Given the description of an element on the screen output the (x, y) to click on. 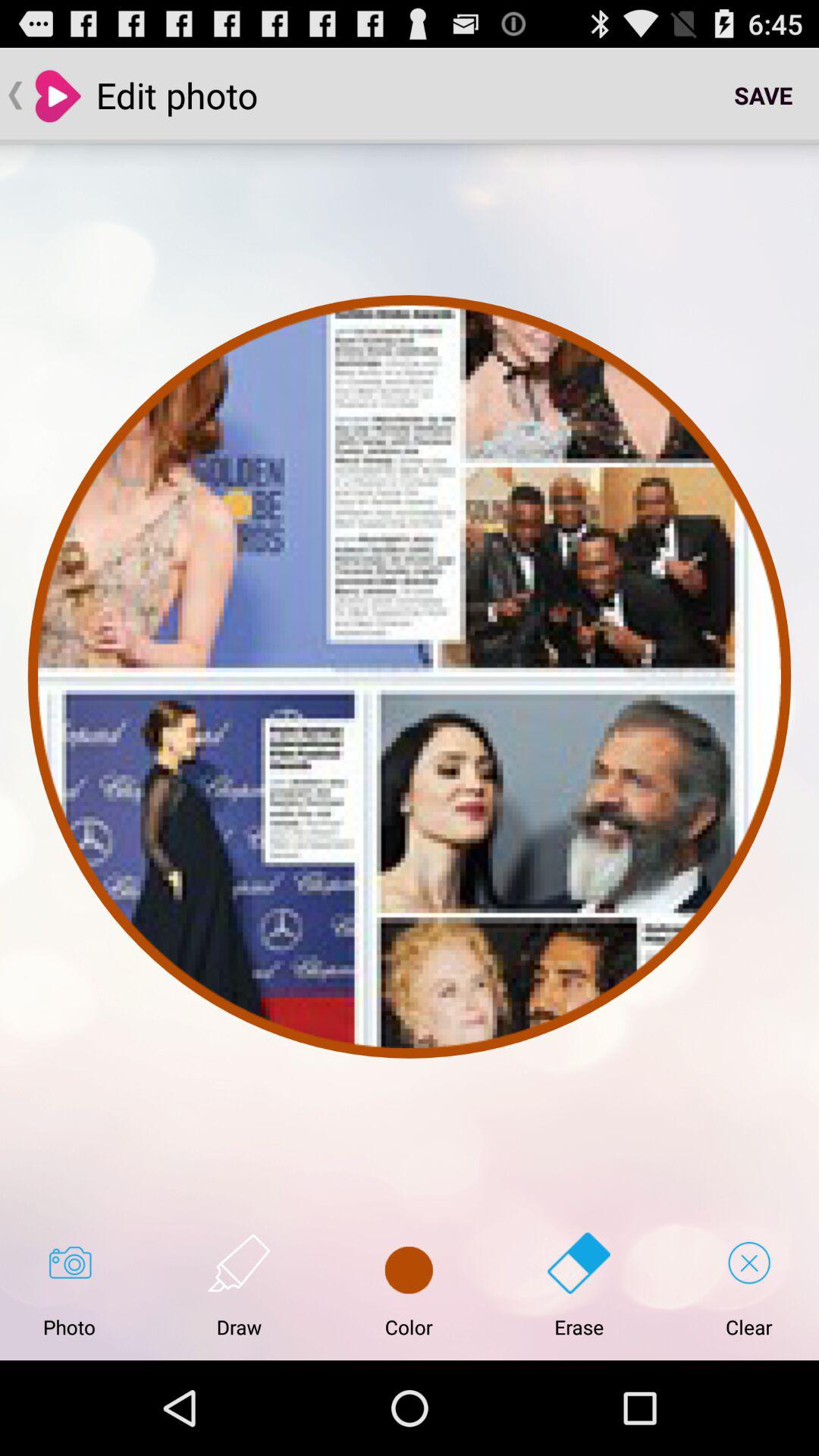
open button next to the draw button (408, 1285)
